Given the description of an element on the screen output the (x, y) to click on. 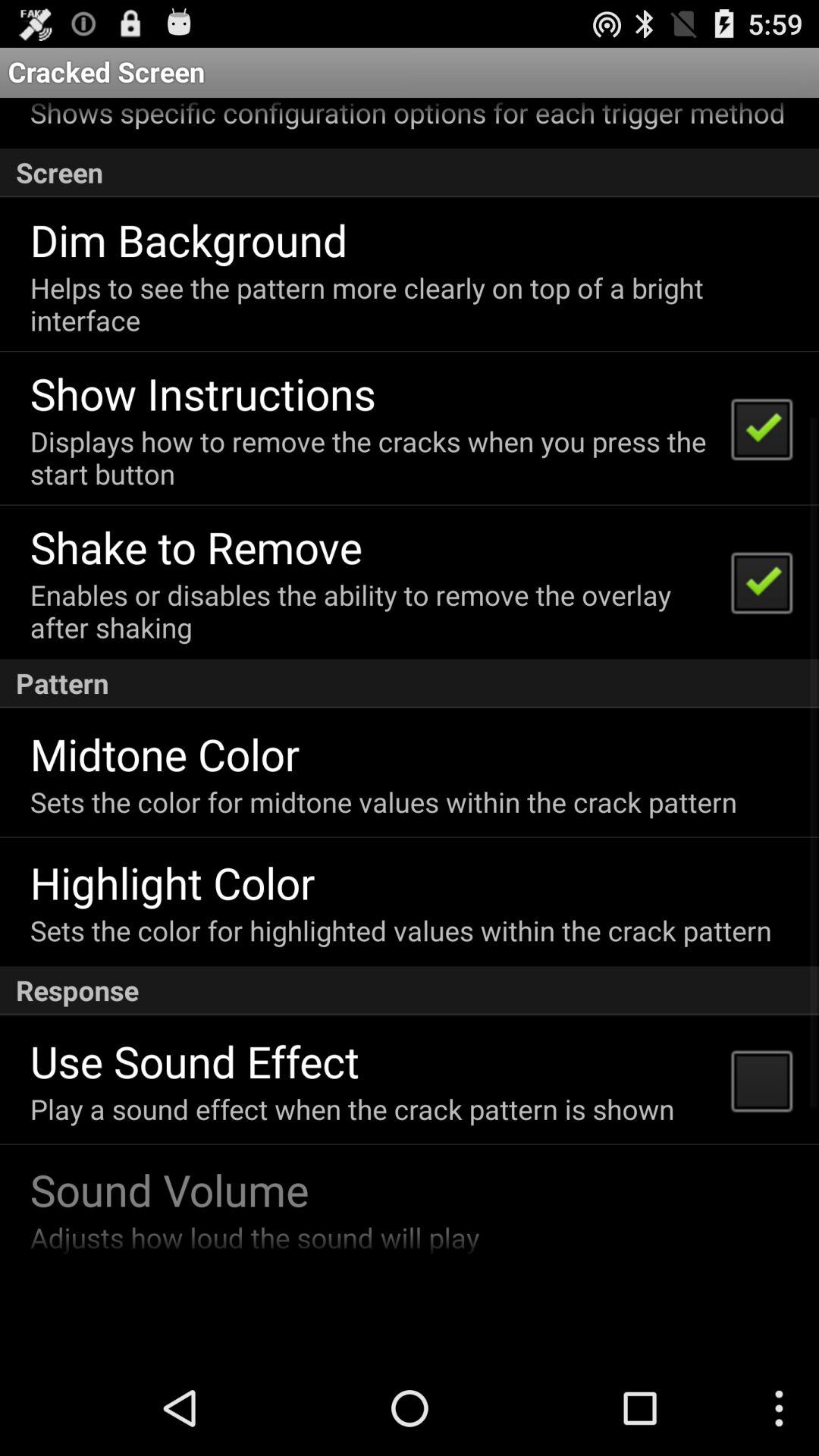
swipe until the helps to see app (408, 303)
